Given the description of an element on the screen output the (x, y) to click on. 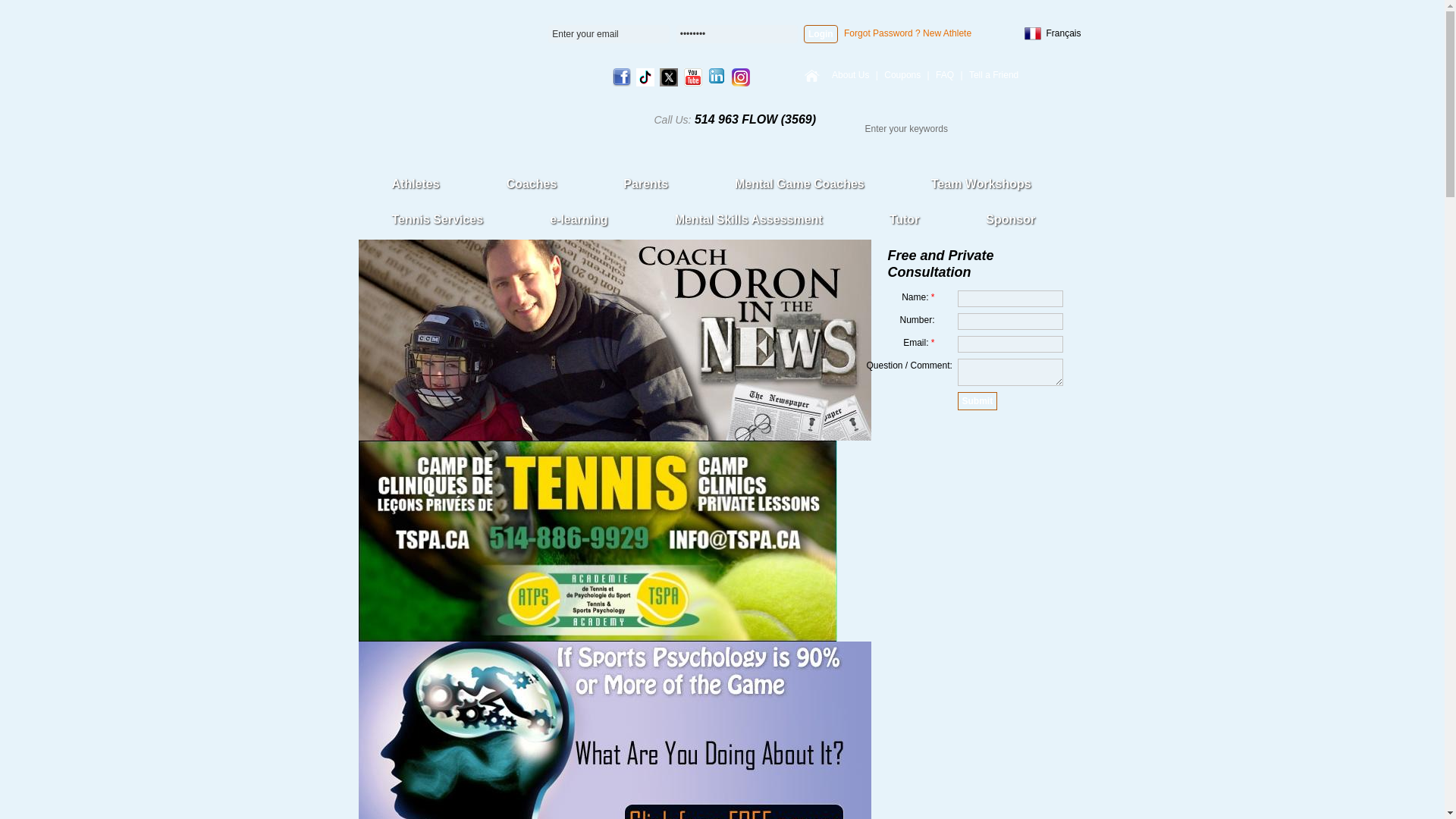
Login (820, 34)
Coaches (532, 183)
Enter your email (608, 34)
e-learning (578, 219)
Google Custom Search (929, 128)
Submit (976, 401)
Login (820, 34)
Parents (645, 183)
Forgot Password ? (882, 32)
Tutor (904, 219)
